Given the description of an element on the screen output the (x, y) to click on. 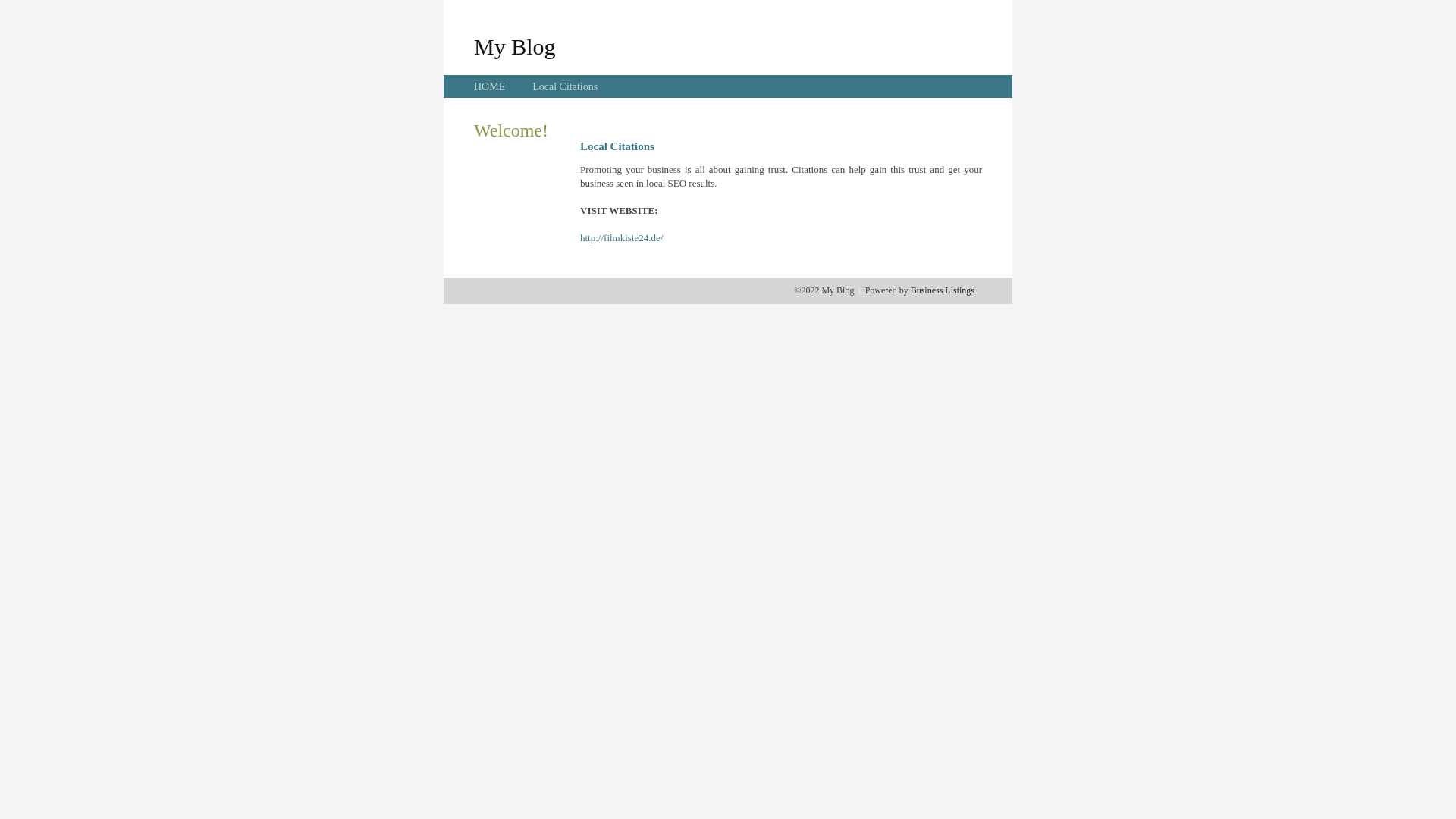
HOME Element type: text (489, 86)
Business Listings Element type: text (942, 290)
My Blog Element type: text (514, 46)
http://filmkiste24.de/ Element type: text (621, 237)
Local Citations Element type: text (564, 86)
